Given the description of an element on the screen output the (x, y) to click on. 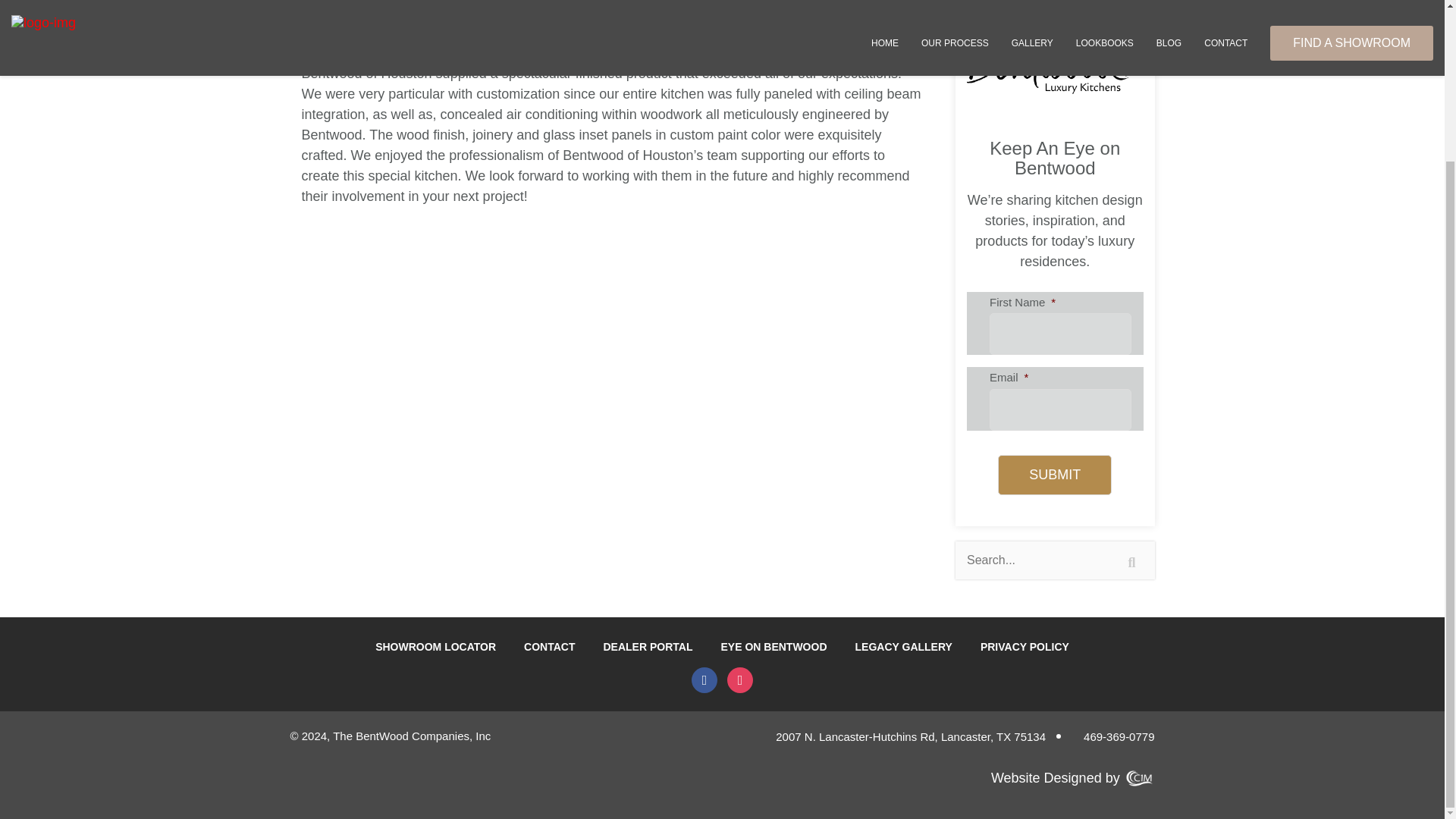
469-369-0779 (1112, 736)
Submit (1054, 475)
PRIVACY POLICY (1023, 646)
Submit (1054, 475)
DEALER PORTAL (648, 646)
LEGACY GALLERY (904, 646)
CONTACT (549, 646)
facebook (704, 679)
instagram (739, 679)
September 5th, 2018 (354, 37)
Facebook (704, 679)
Default Label (739, 679)
SHOWROOM LOCATOR (435, 646)
EYE ON BENTWOOD (773, 646)
